Given the description of an element on the screen output the (x, y) to click on. 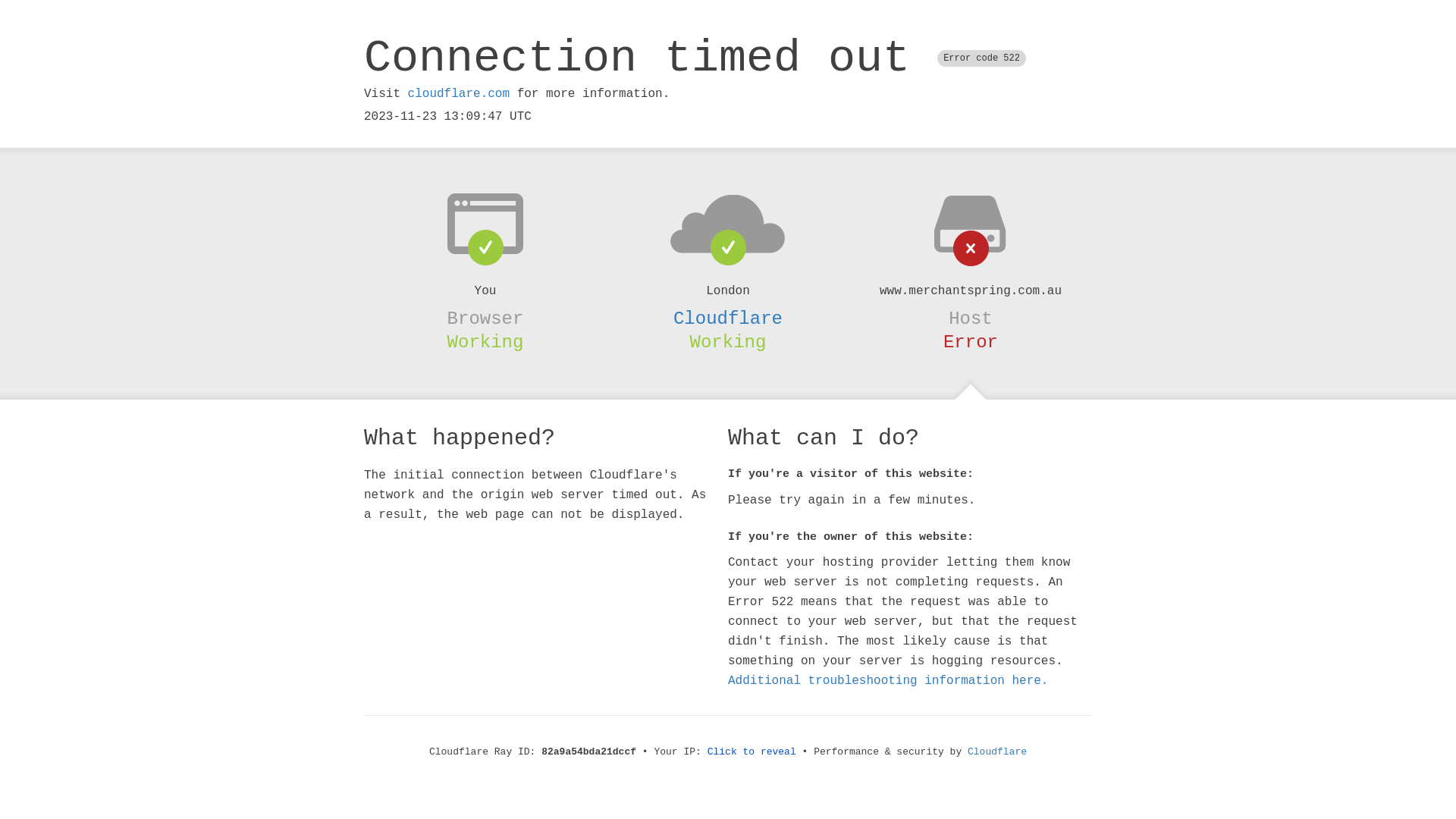
Click to reveal Element type: text (751, 751)
Cloudflare Element type: text (727, 318)
Cloudflare Element type: text (996, 751)
cloudflare.com Element type: text (458, 93)
Additional troubleshooting information here. Element type: text (888, 680)
